Given the description of an element on the screen output the (x, y) to click on. 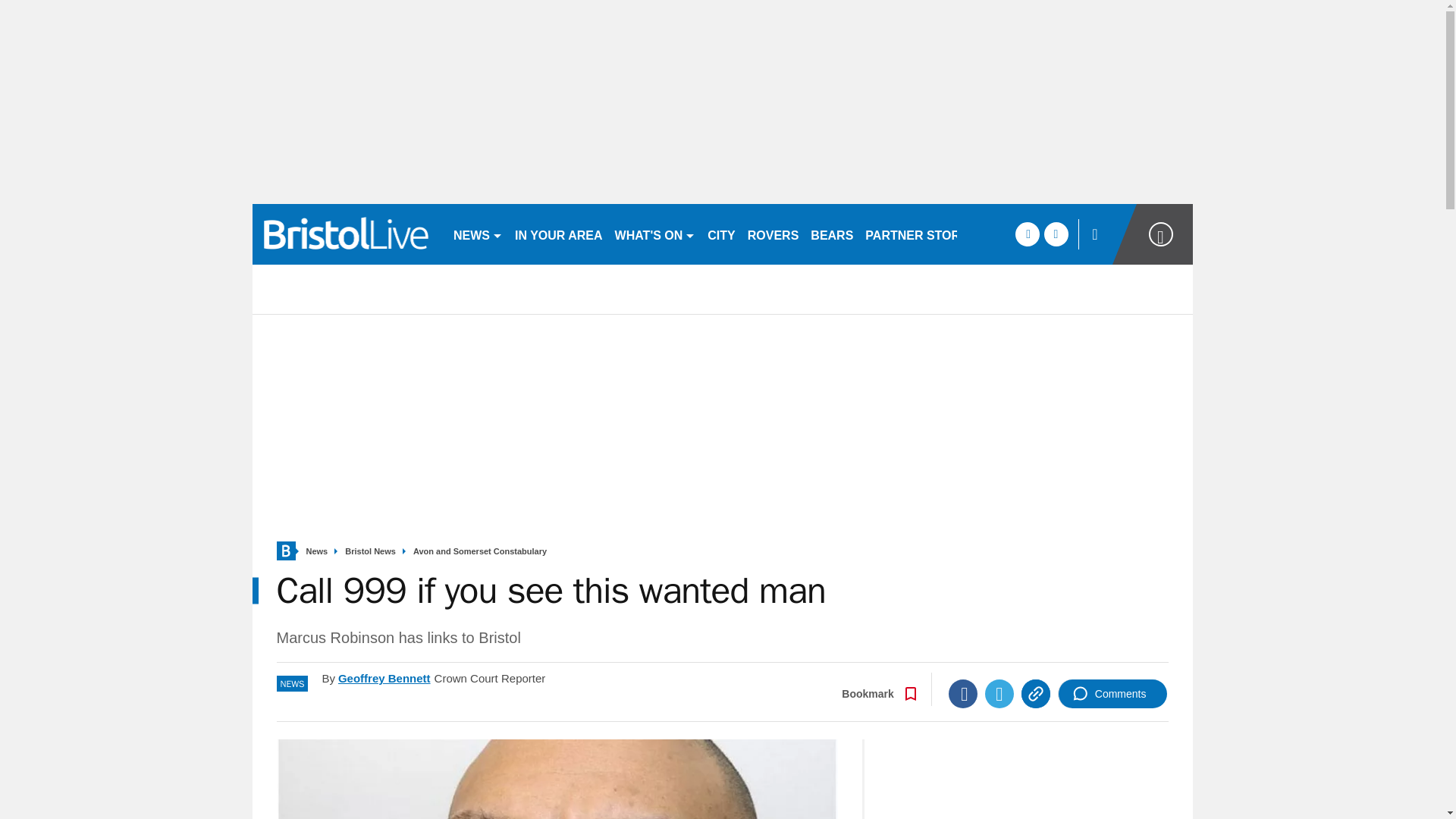
Twitter (999, 693)
bristolpost (345, 233)
twitter (1055, 233)
WHAT'S ON (654, 233)
Facebook (962, 693)
ROVERS (773, 233)
facebook (1026, 233)
Comments (1112, 693)
NEWS (477, 233)
BEARS (832, 233)
PARTNER STORIES (922, 233)
IN YOUR AREA (558, 233)
